Given the description of an element on the screen output the (x, y) to click on. 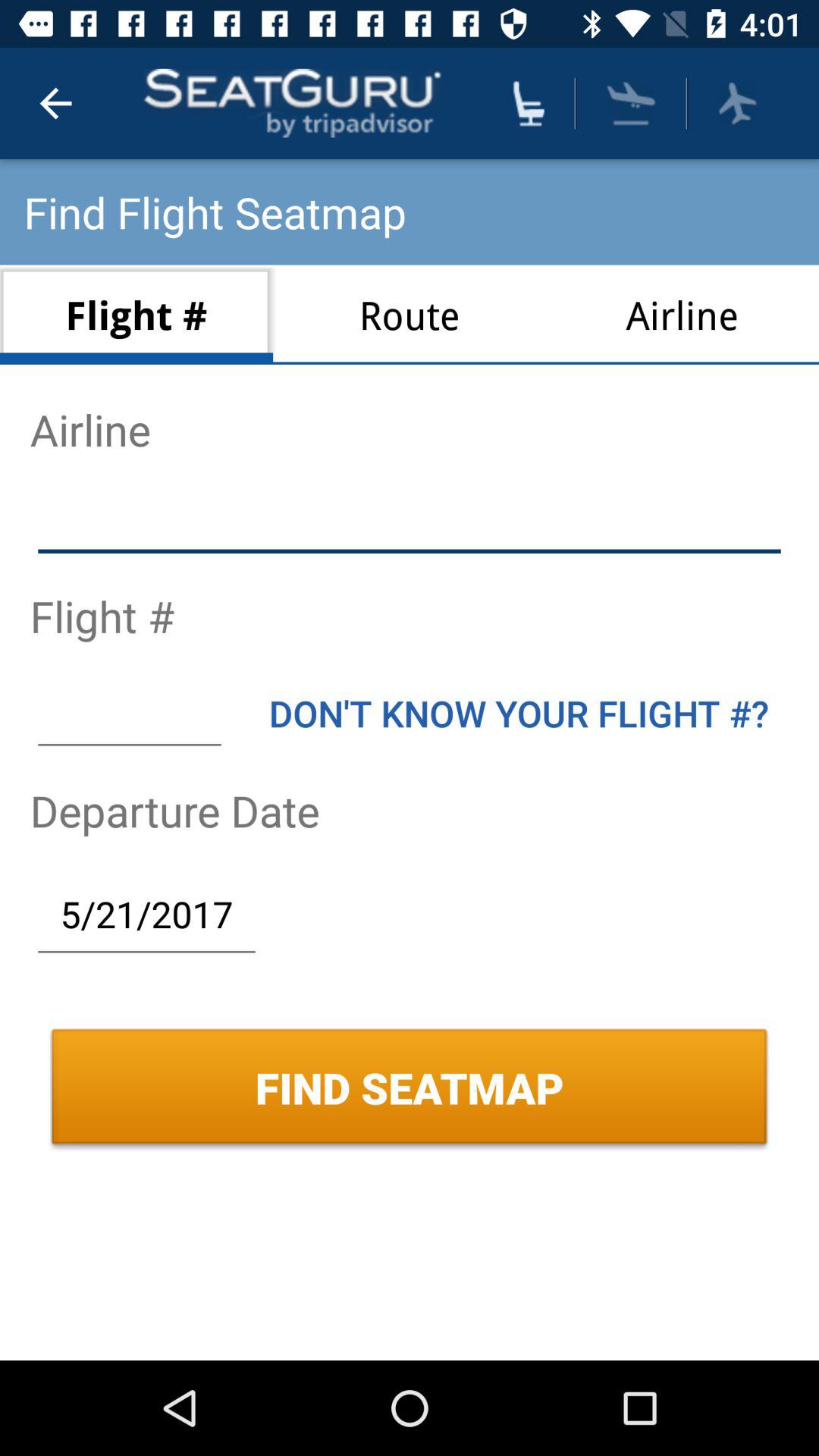
toggle to select flights toggle to flight search (737, 103)
